Given the description of an element on the screen output the (x, y) to click on. 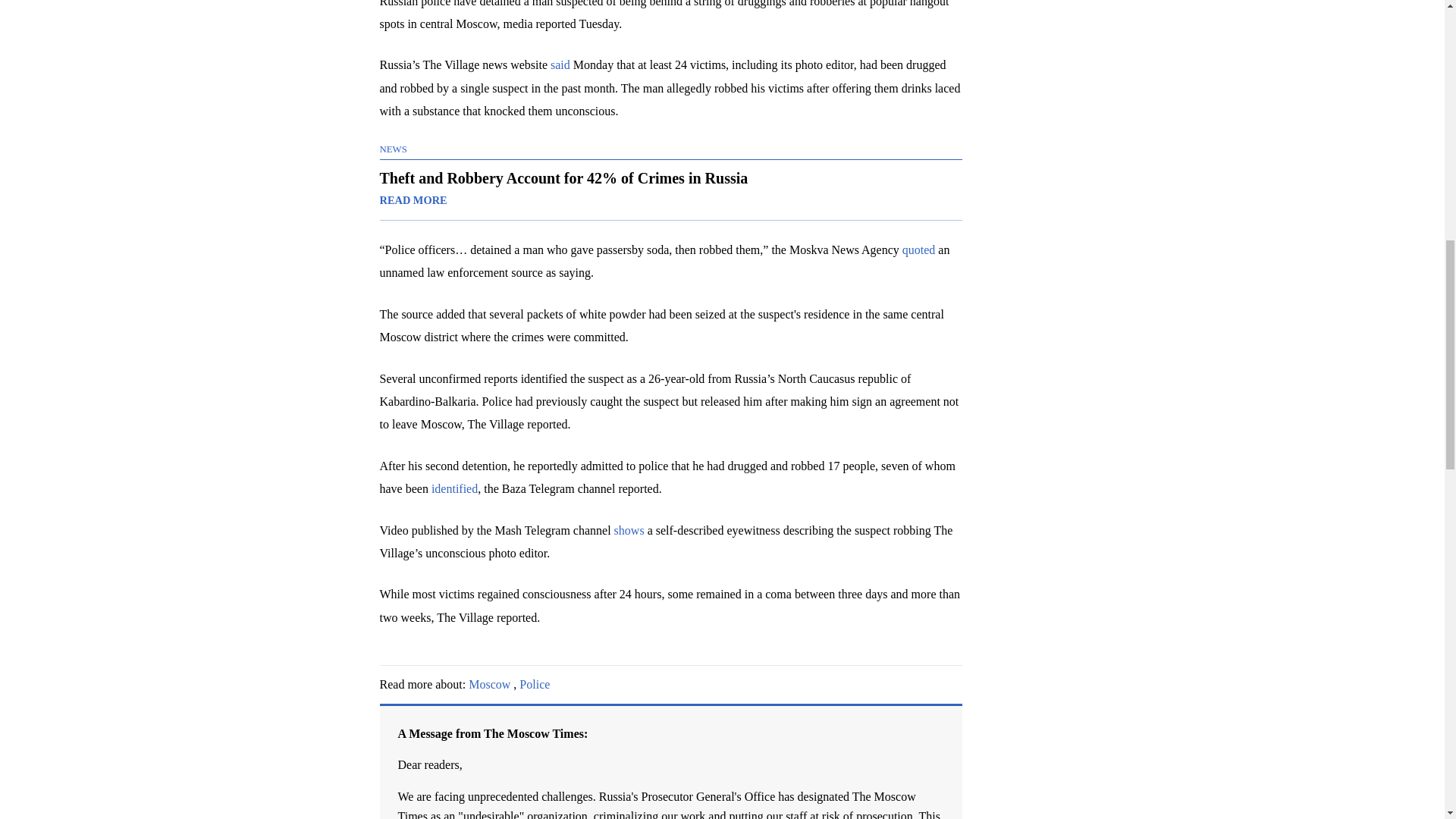
Moscow (489, 684)
shows (629, 530)
Police (534, 684)
